Given the description of an element on the screen output the (x, y) to click on. 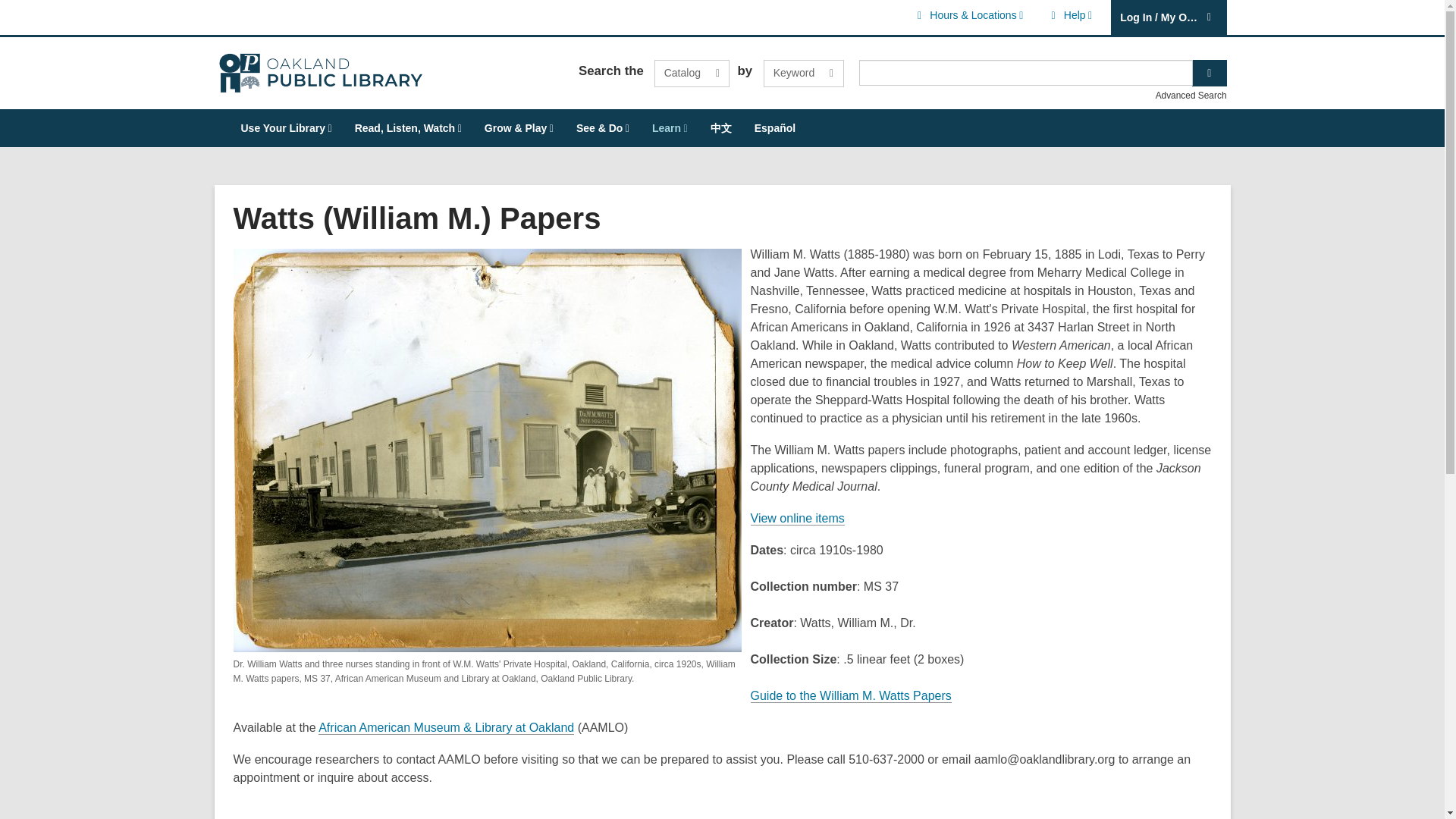
Catalog (1069, 15)
Keyword (691, 72)
